Given the description of an element on the screen output the (x, y) to click on. 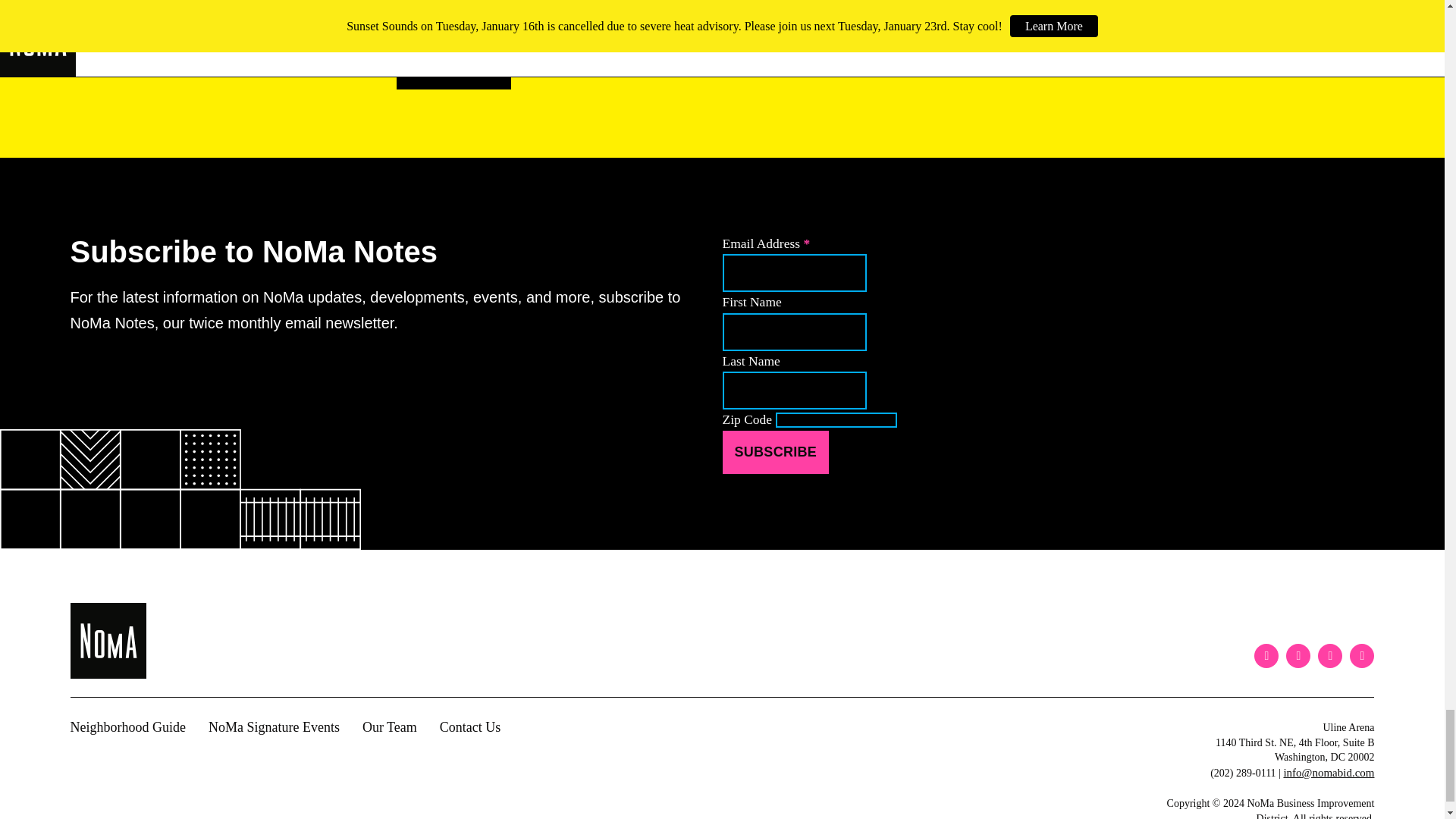
Subscribe (775, 452)
